Given the description of an element on the screen output the (x, y) to click on. 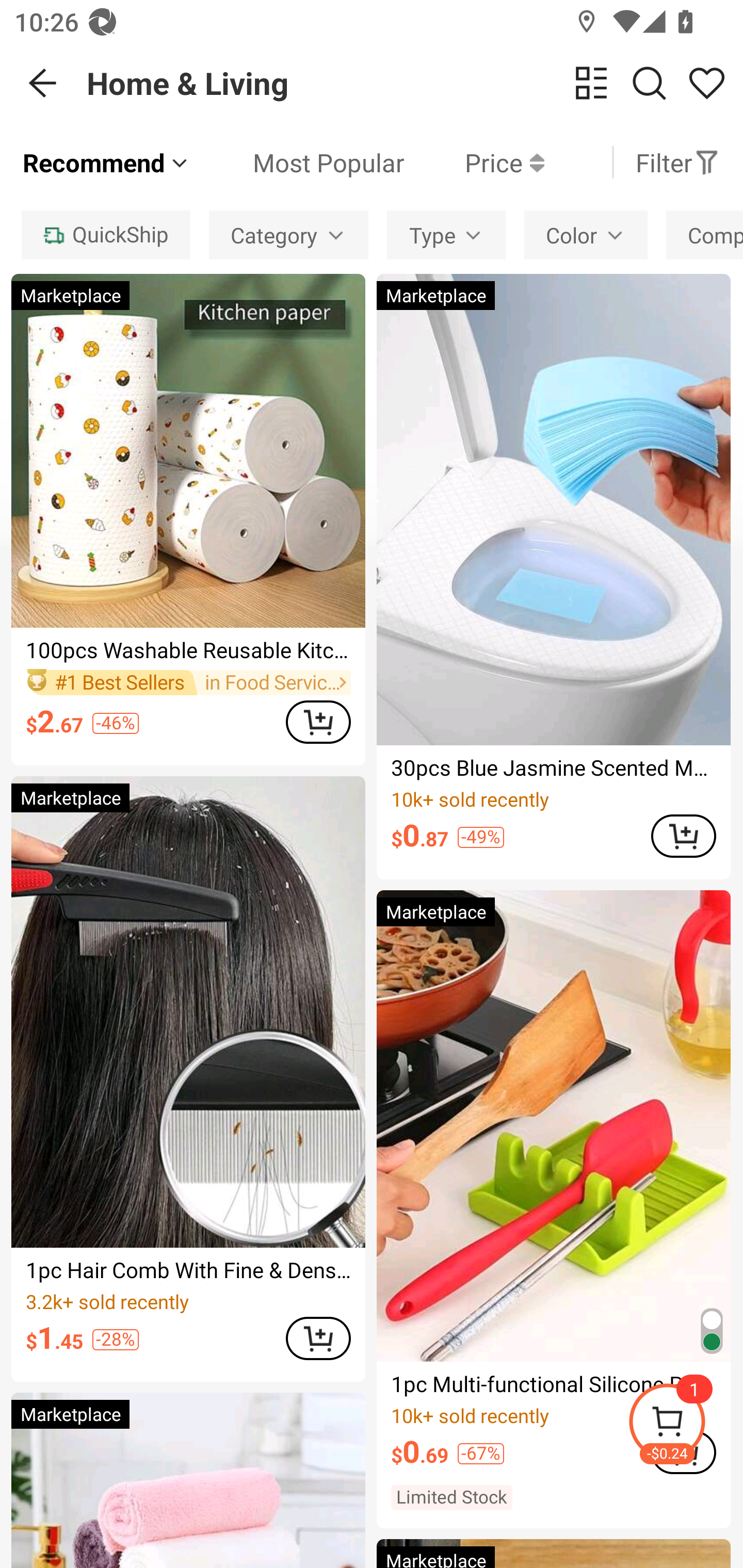
Home & Living change view Search Share (414, 82)
change view (591, 82)
Search (648, 82)
Share (706, 82)
Recommend (106, 162)
Most Popular (297, 162)
Price (474, 162)
Filter (677, 162)
QuickShip (105, 234)
Category (288, 234)
Type (446, 234)
Color (585, 234)
Composition (704, 234)
ADD TO CART (318, 721)
ADD TO CART (683, 835)
ADD TO CART (318, 1338)
-$0.24 (685, 1424)
